Given the description of an element on the screen output the (x, y) to click on. 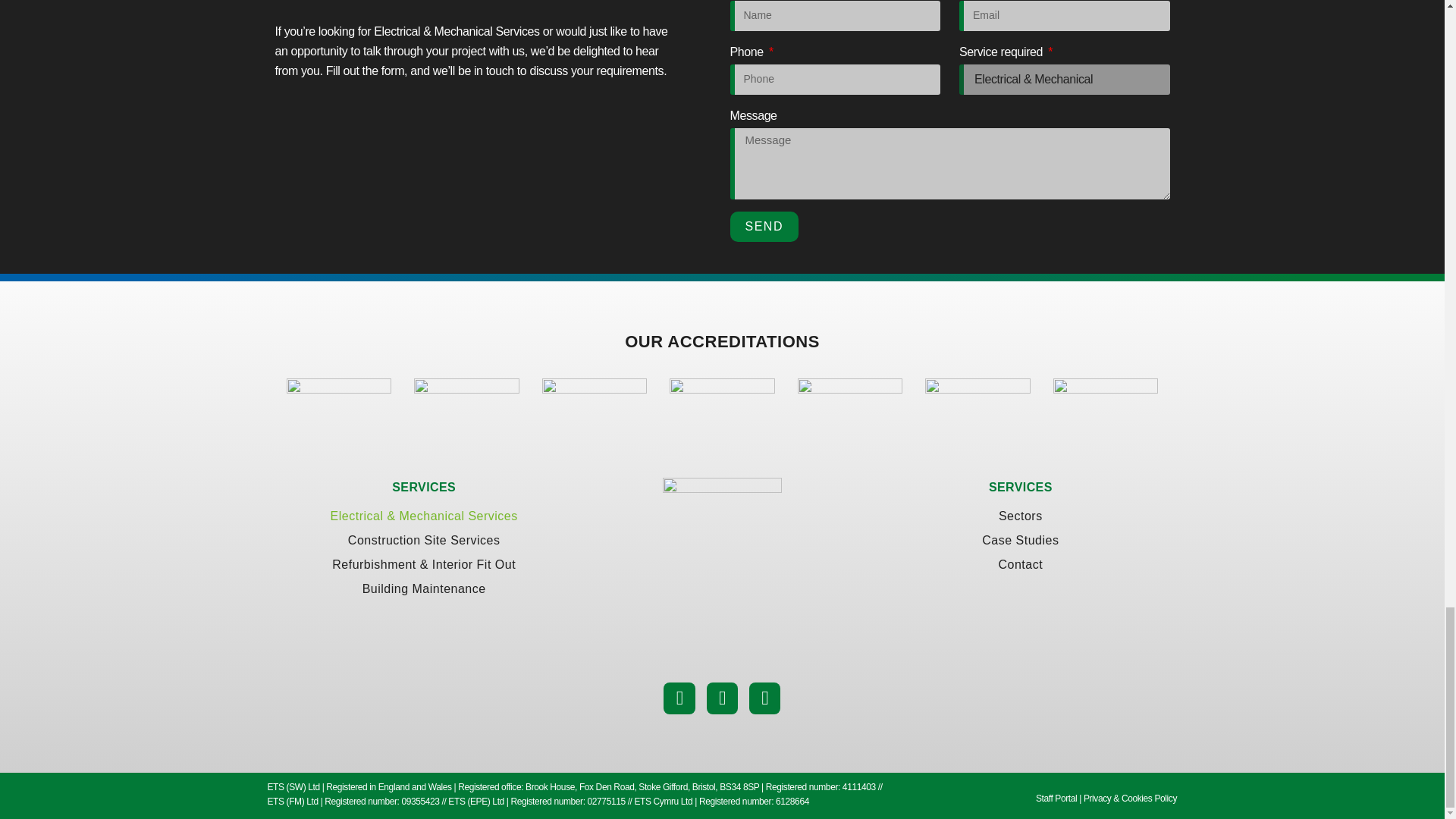
Construction Site Services (423, 540)
Building Maintenance (423, 589)
SEND (763, 226)
